Given the description of an element on the screen output the (x, y) to click on. 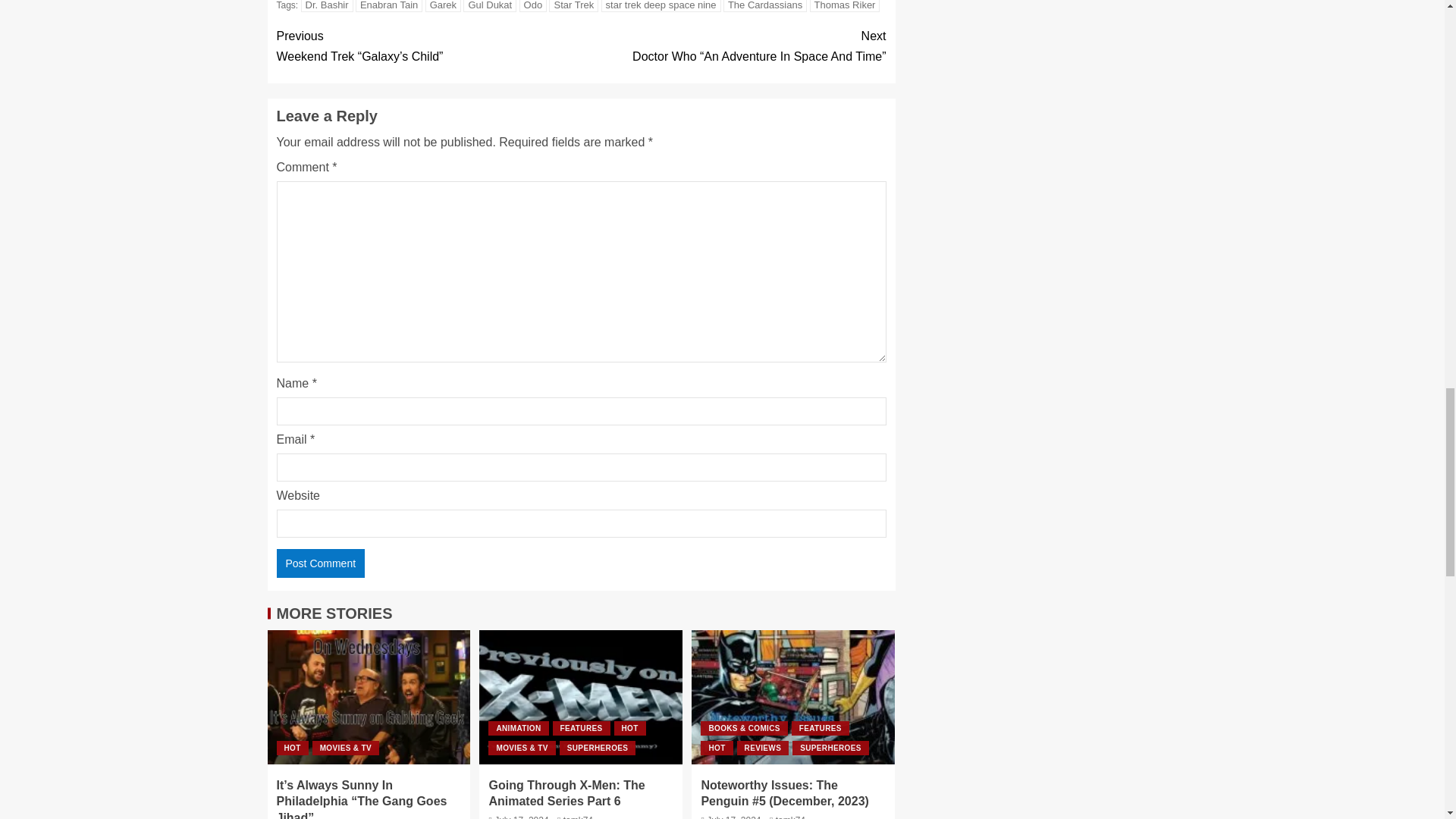
Post Comment (320, 563)
